Given the description of an element on the screen output the (x, y) to click on. 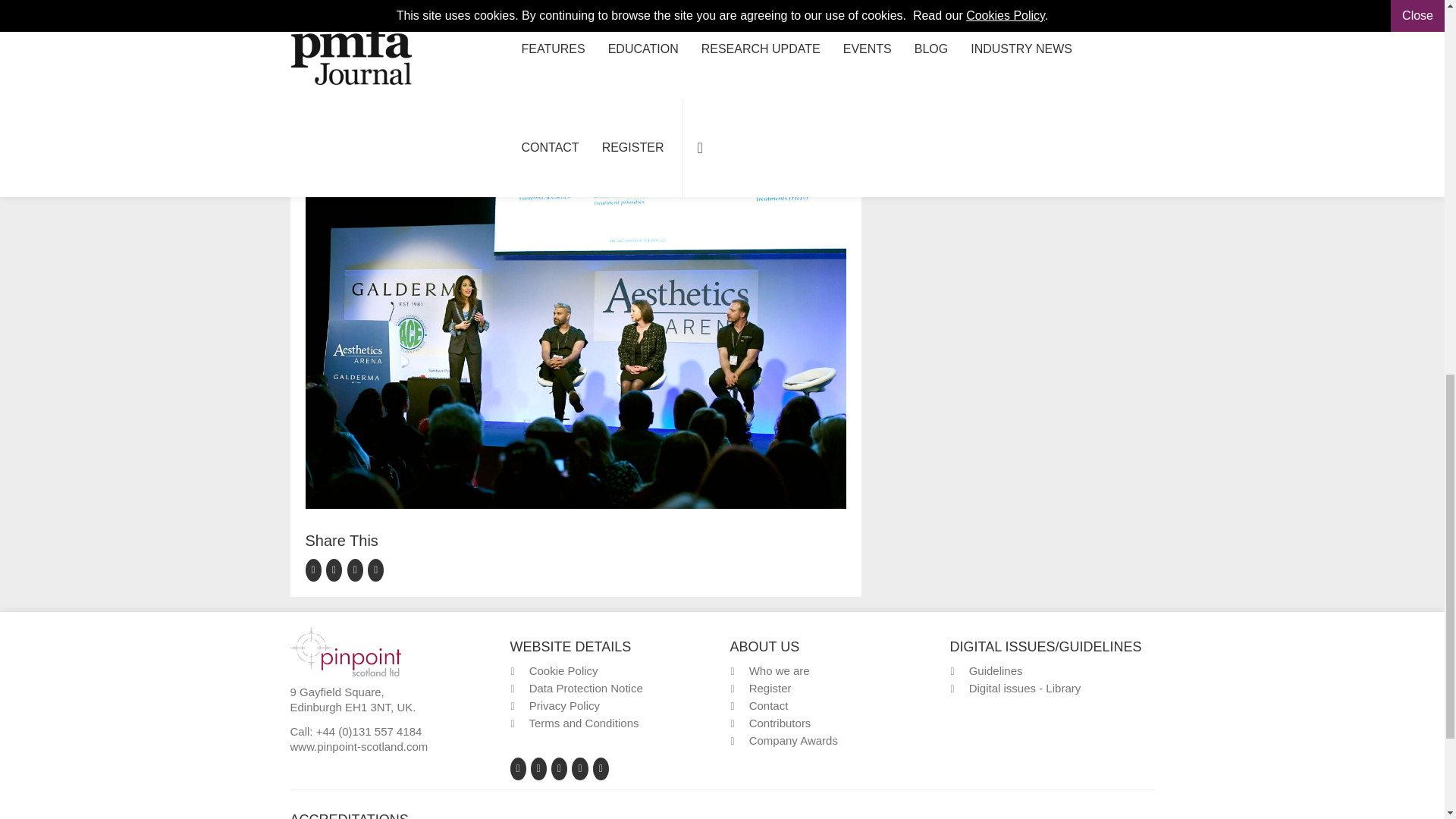
On Facebook (315, 568)
On Twitter (336, 568)
www.pinpoint-scotland.com (358, 746)
On Reddit (376, 568)
Pinpoint Scotland (344, 649)
Cookie Policy (563, 670)
On LinkedIn (357, 568)
